Given the description of an element on the screen output the (x, y) to click on. 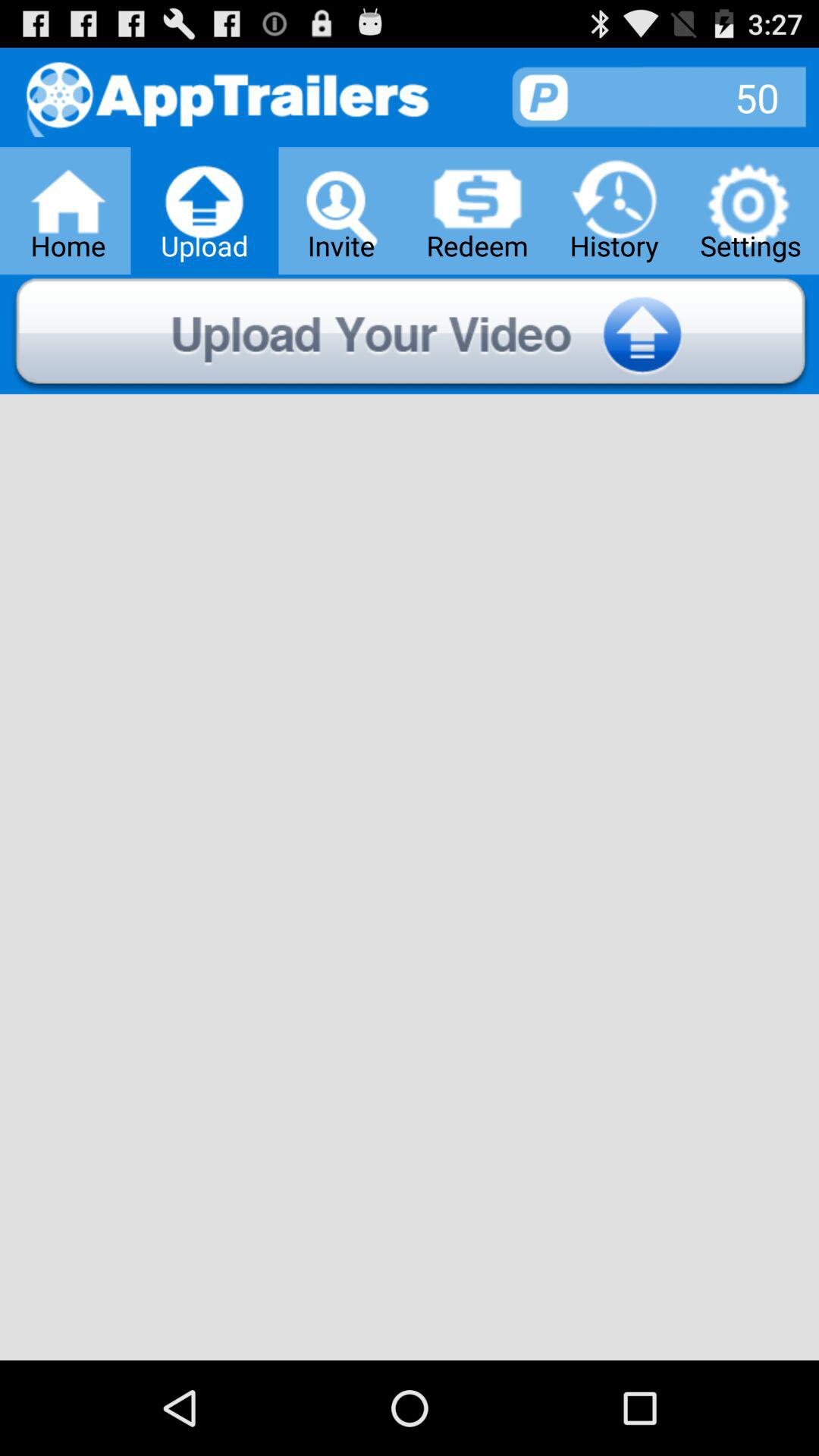
upload video (409, 334)
